Given the description of an element on the screen output the (x, y) to click on. 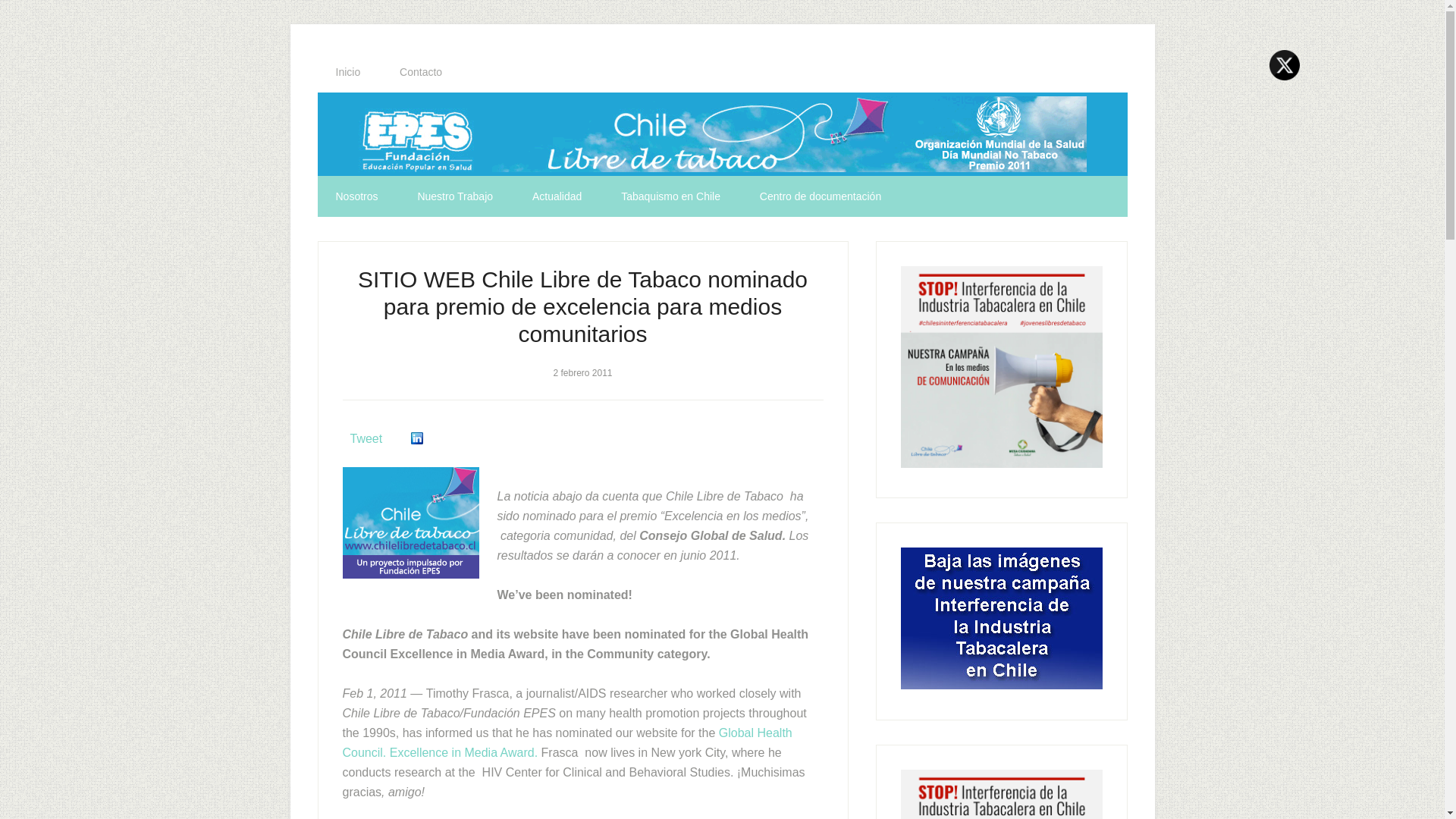
Twitter (1284, 64)
Inicio (347, 71)
Compartir en LinkedIn (416, 438)
Nuestro Trabajo (454, 196)
Global Health Council. Excellence in Media Award. (567, 742)
Tweet (366, 438)
Tabaquismo en Chile (670, 196)
Contacto (420, 71)
web clip Chilelibredetabaco.cl.EPES (410, 522)
chilelibredetabaco (721, 134)
Nosotros (356, 196)
Actualidad (556, 196)
Compartir en LinkedIn (416, 438)
